Given the description of an element on the screen output the (x, y) to click on. 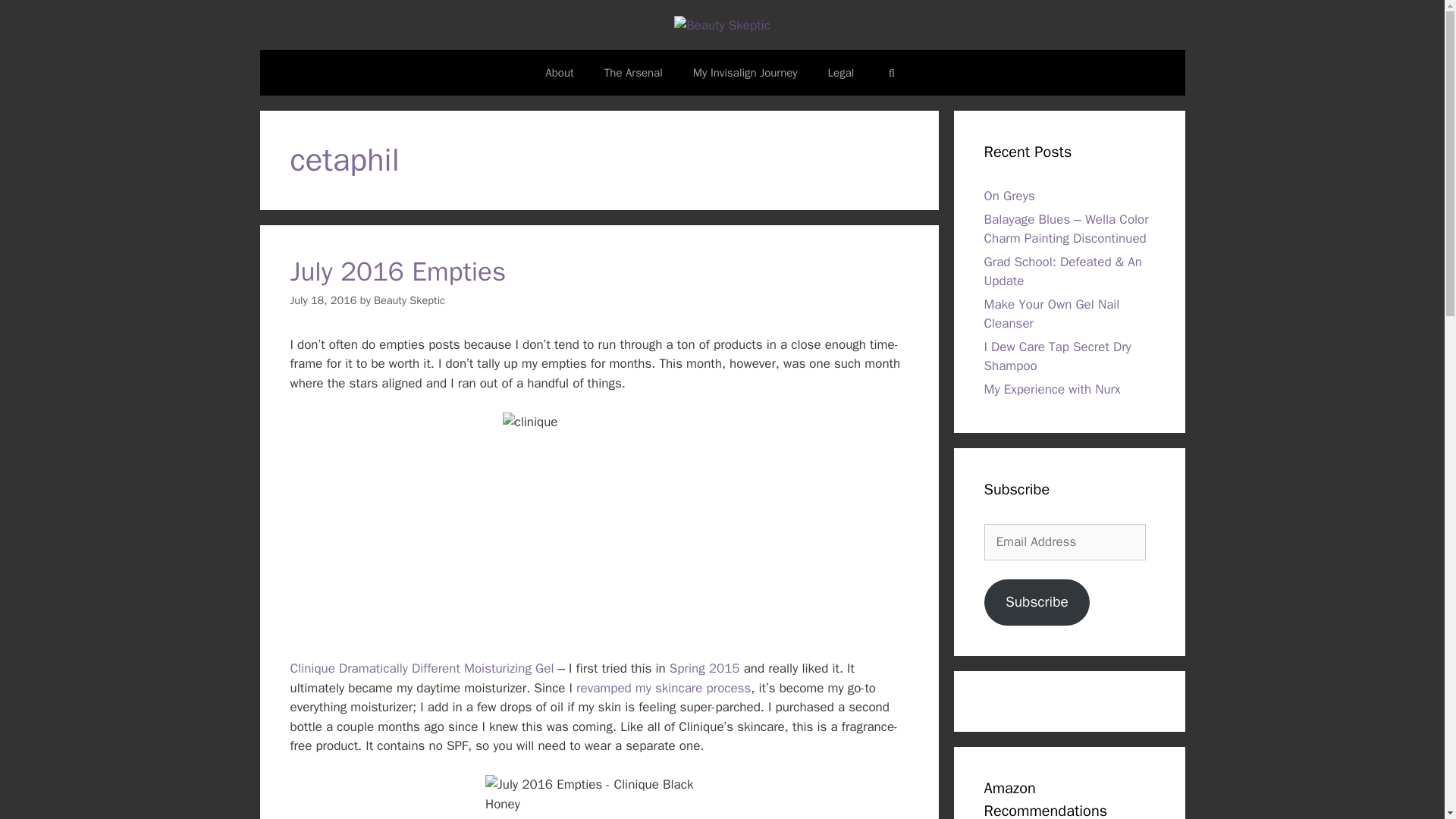
View all posts by Beauty Skeptic (409, 300)
Clinique Dramatically Different Moisturizing Gel (421, 668)
Spring 2015 (704, 668)
Beauty Skeptic (409, 300)
My Invisalign Journey (745, 72)
The Arsenal (633, 72)
About (558, 72)
July 2016 Empties (397, 271)
Legal (840, 72)
On Greys (1009, 195)
